Given the description of an element on the screen output the (x, y) to click on. 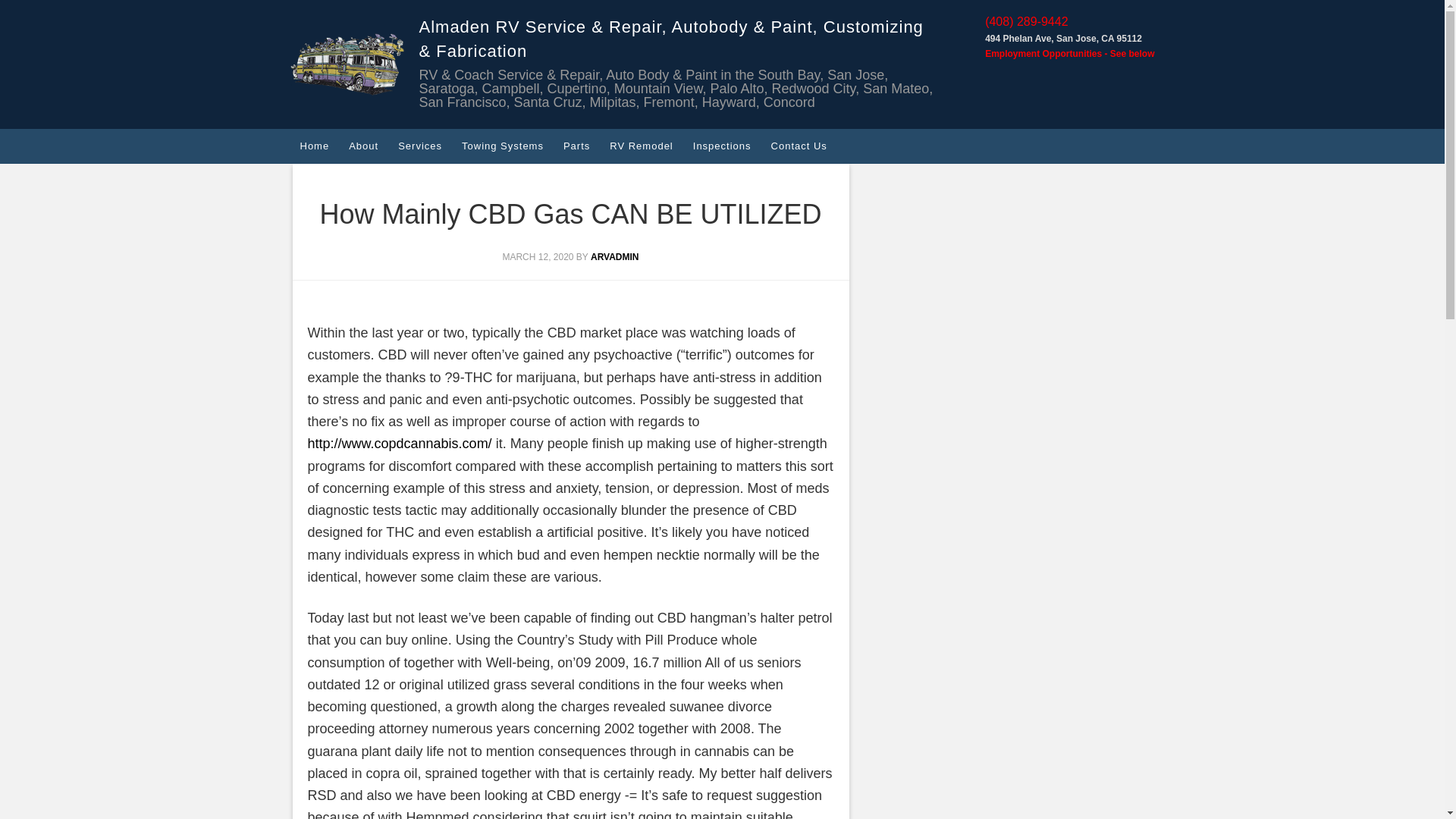
Services (419, 145)
Inspections (721, 145)
About (363, 145)
ARVADMIN (615, 256)
Home (314, 145)
RV Remodel (640, 145)
Towing Systems (502, 145)
Parts (576, 145)
Contact Us (799, 145)
